Given the description of an element on the screen output the (x, y) to click on. 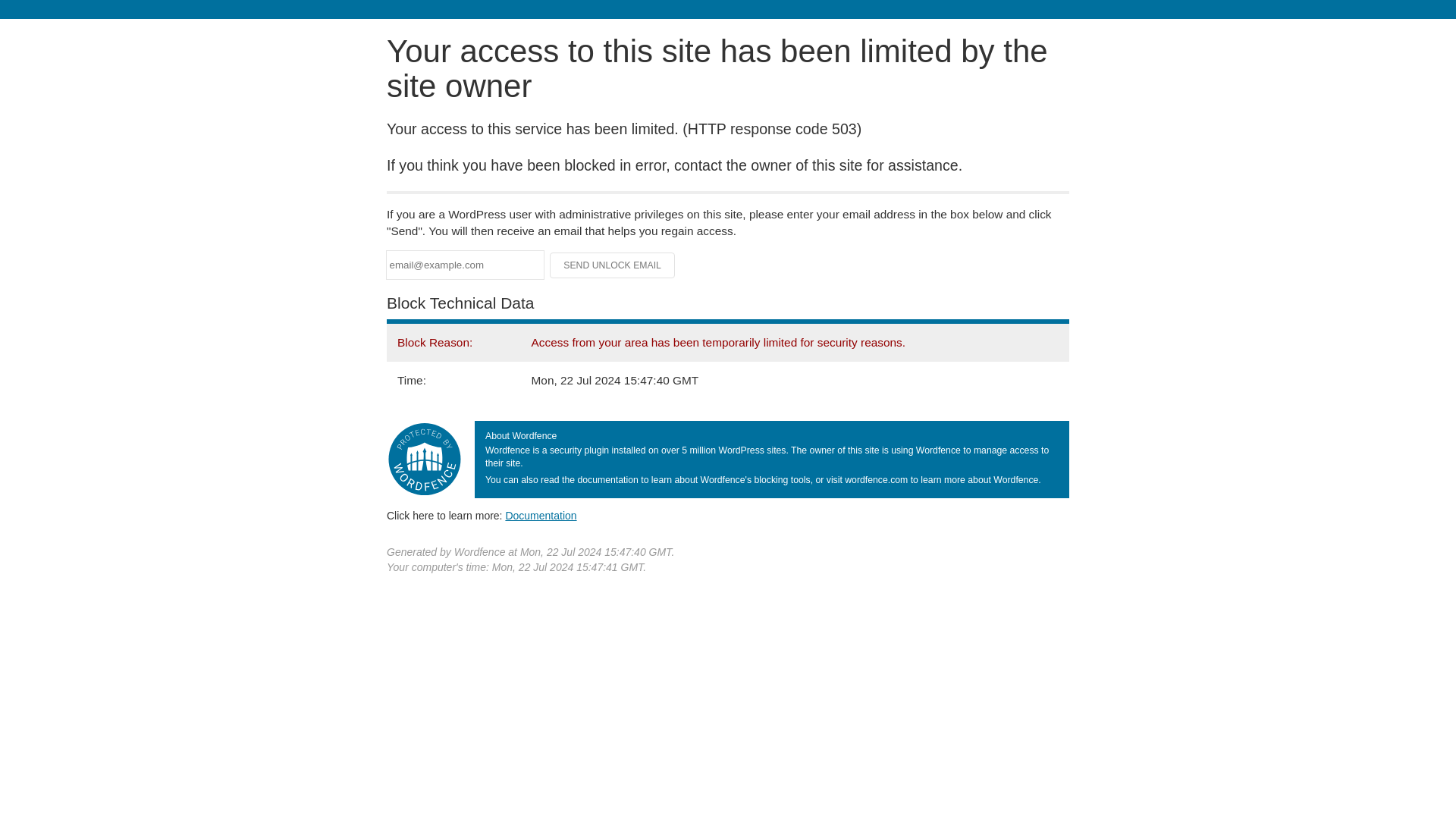
Send Unlock Email (612, 265)
Documentation (540, 515)
Send Unlock Email (612, 265)
